Given the description of an element on the screen output the (x, y) to click on. 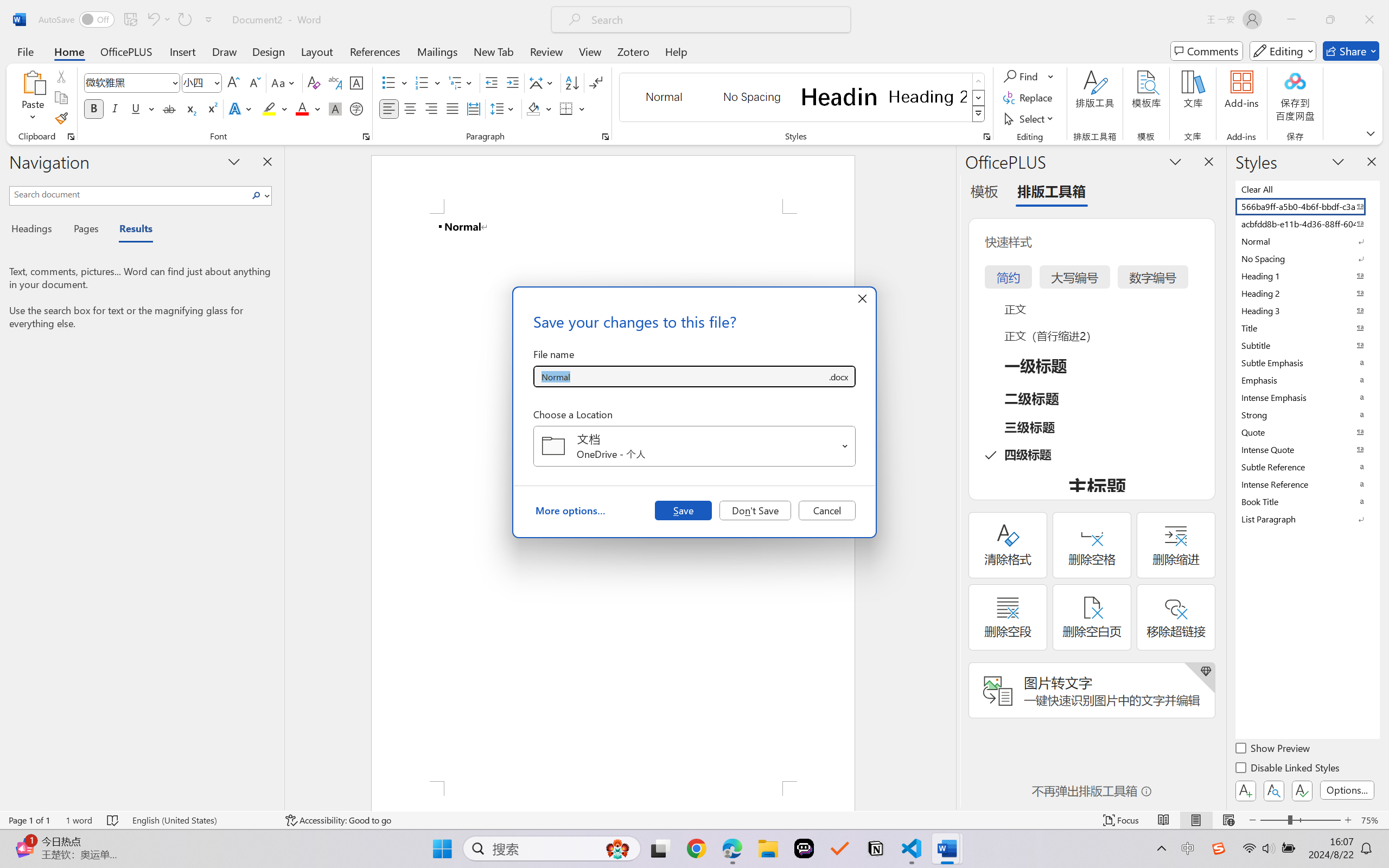
Find (1022, 75)
Font (126, 82)
Multilevel List (461, 82)
Font Size (196, 82)
Comments (1206, 50)
Underline (135, 108)
Italic (115, 108)
Clear All (1306, 188)
Task Pane Options (1175, 161)
